Given the description of an element on the screen output the (x, y) to click on. 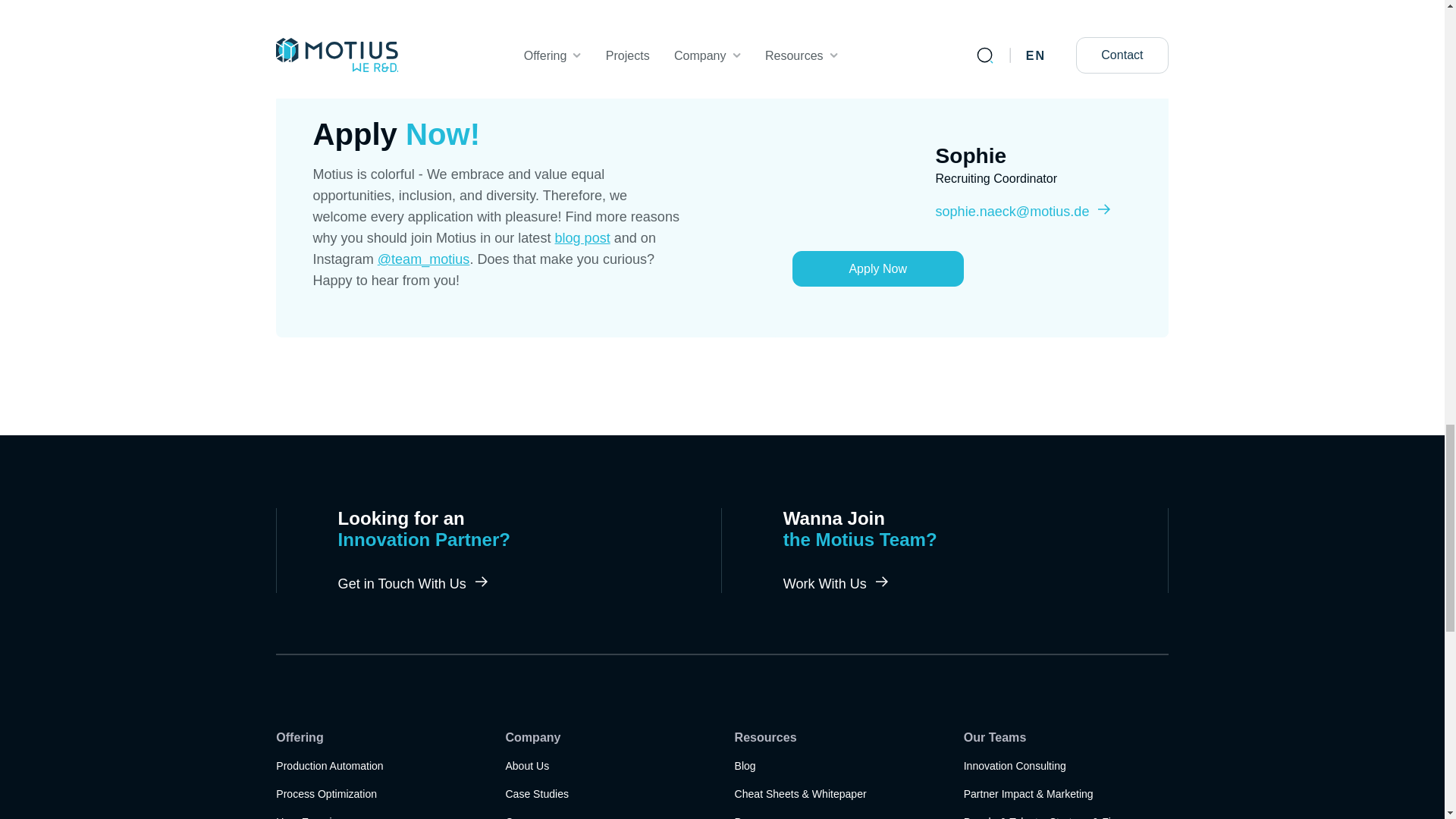
Arrow Right (882, 581)
Production Automation (329, 766)
Case Studies (835, 583)
blog post (537, 794)
User Experience (582, 237)
Process Optimization (315, 813)
About Us (326, 794)
Career (526, 766)
Blog (521, 813)
Arrow Right (745, 766)
